Given the description of an element on the screen output the (x, y) to click on. 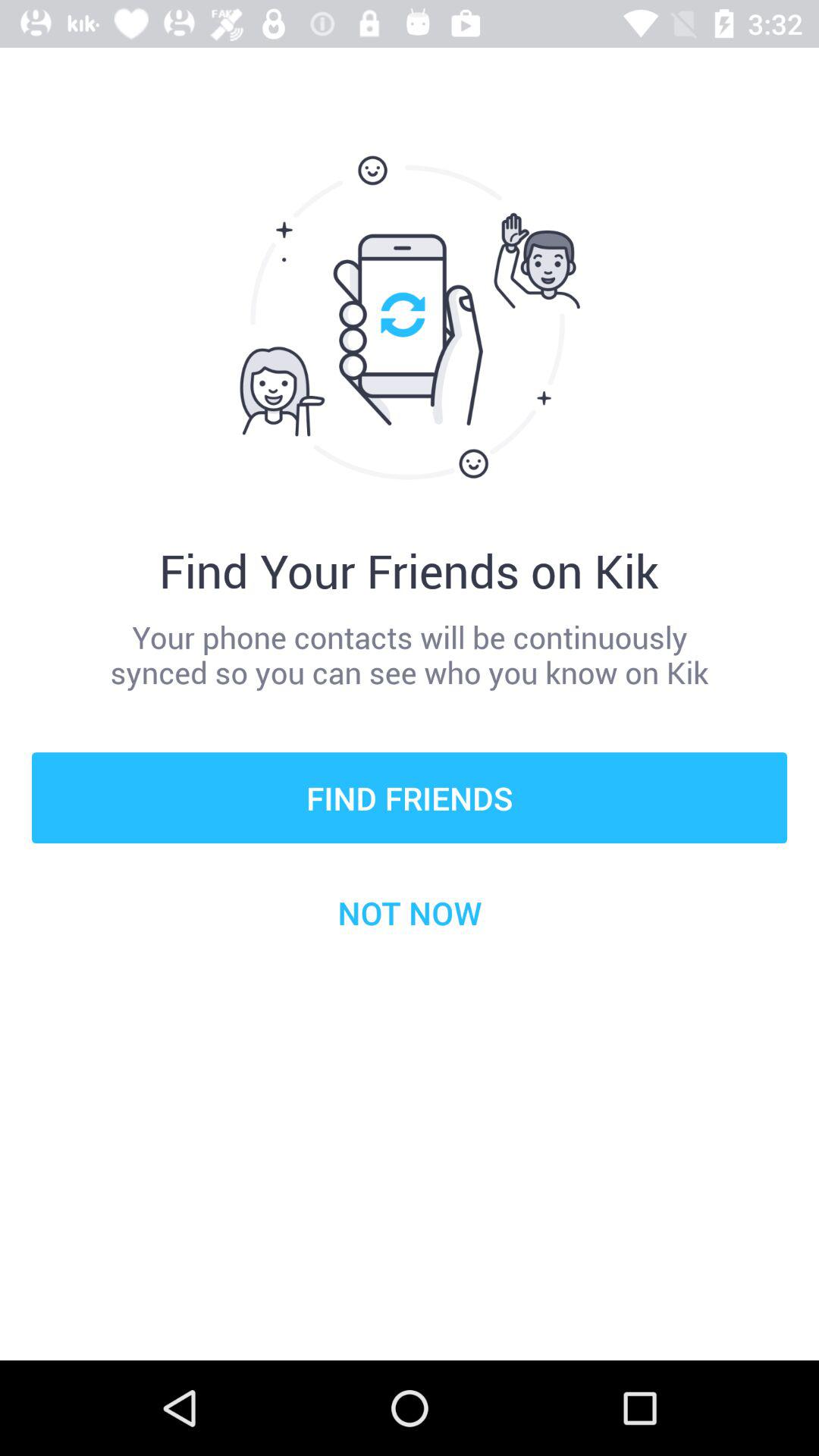
turn on item below the find friends icon (409, 912)
